Given the description of an element on the screen output the (x, y) to click on. 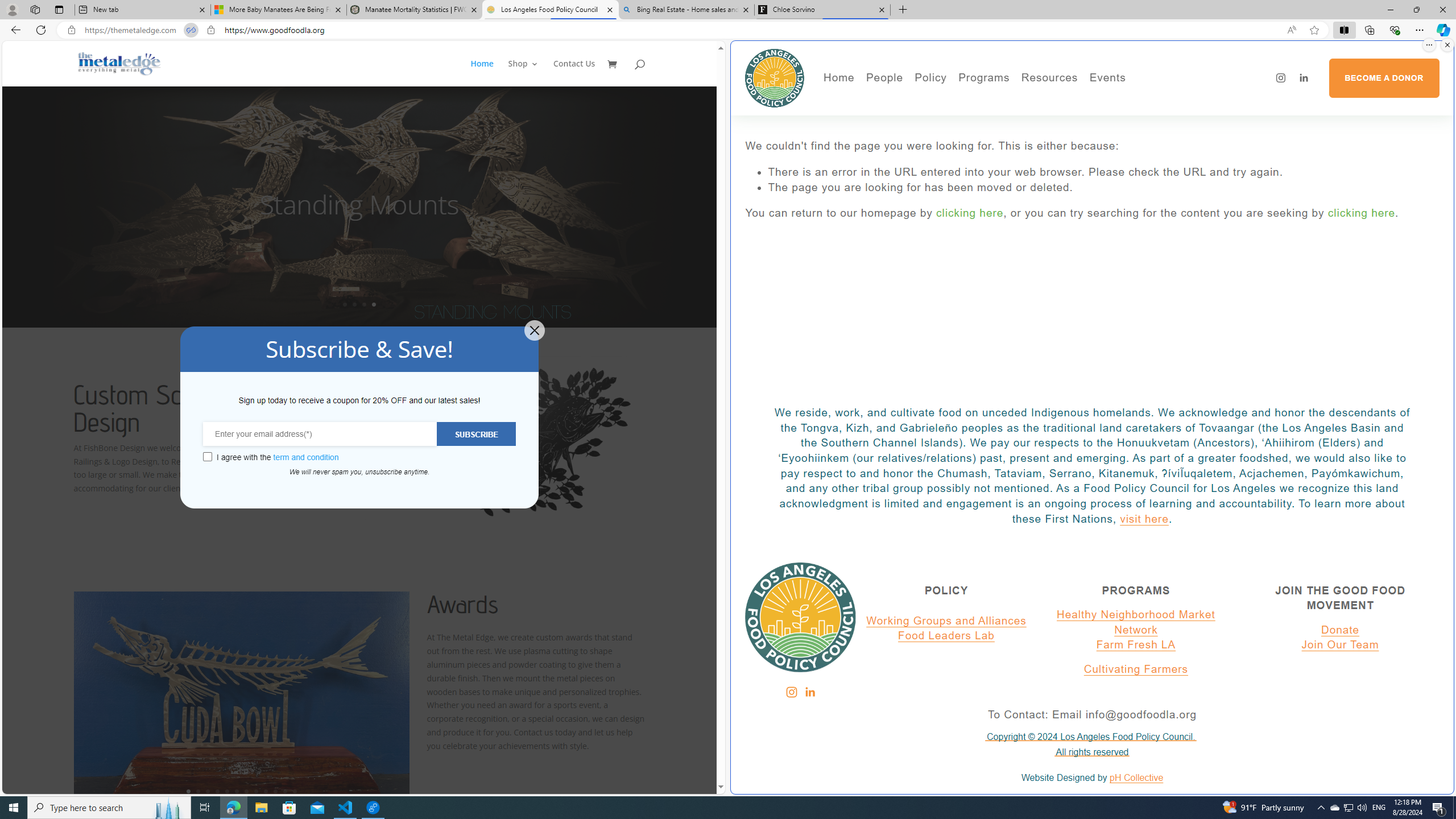
Cultivating Farmers (1015, 132)
Workspaces (34, 9)
LA Foodscapes (1146, 116)
More options. (1428, 45)
Browser essentials (1394, 29)
Read aloud this page (Ctrl+Shift+U) (1291, 29)
Healthy Markets LA (1015, 99)
9 (265, 790)
Class: sqs-svg-icon--social (809, 692)
The page you are looking for has been moved or deleted. (1103, 187)
View site information (210, 29)
Home (838, 77)
Bing Real Estate - Home sales and rental listings (685, 9)
Refresh (40, 29)
